Given the description of an element on the screen output the (x, y) to click on. 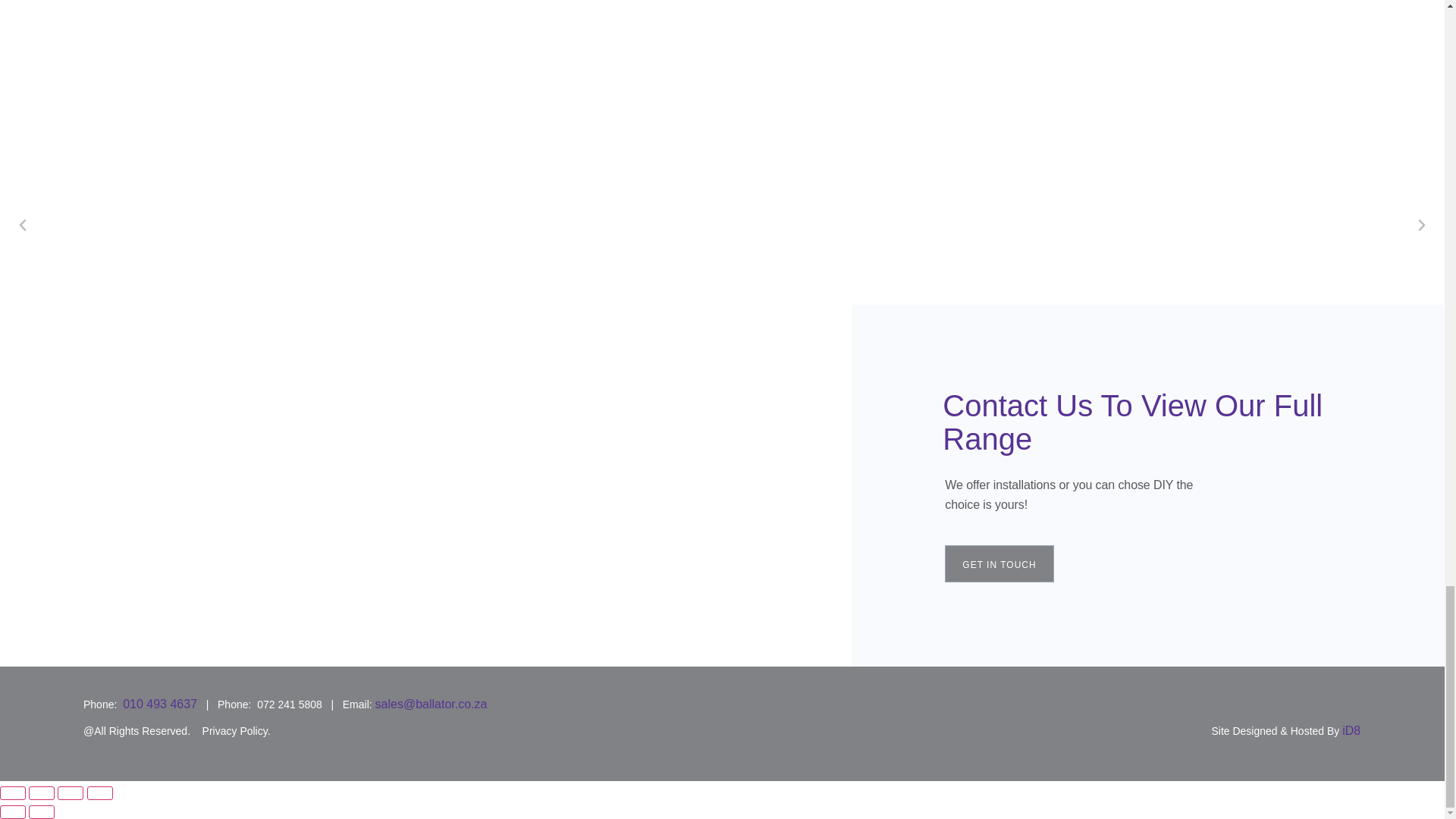
010 493 4637 (159, 703)
GET IN TOUCH (998, 563)
iD8 (1350, 730)
